Given the description of an element on the screen output the (x, y) to click on. 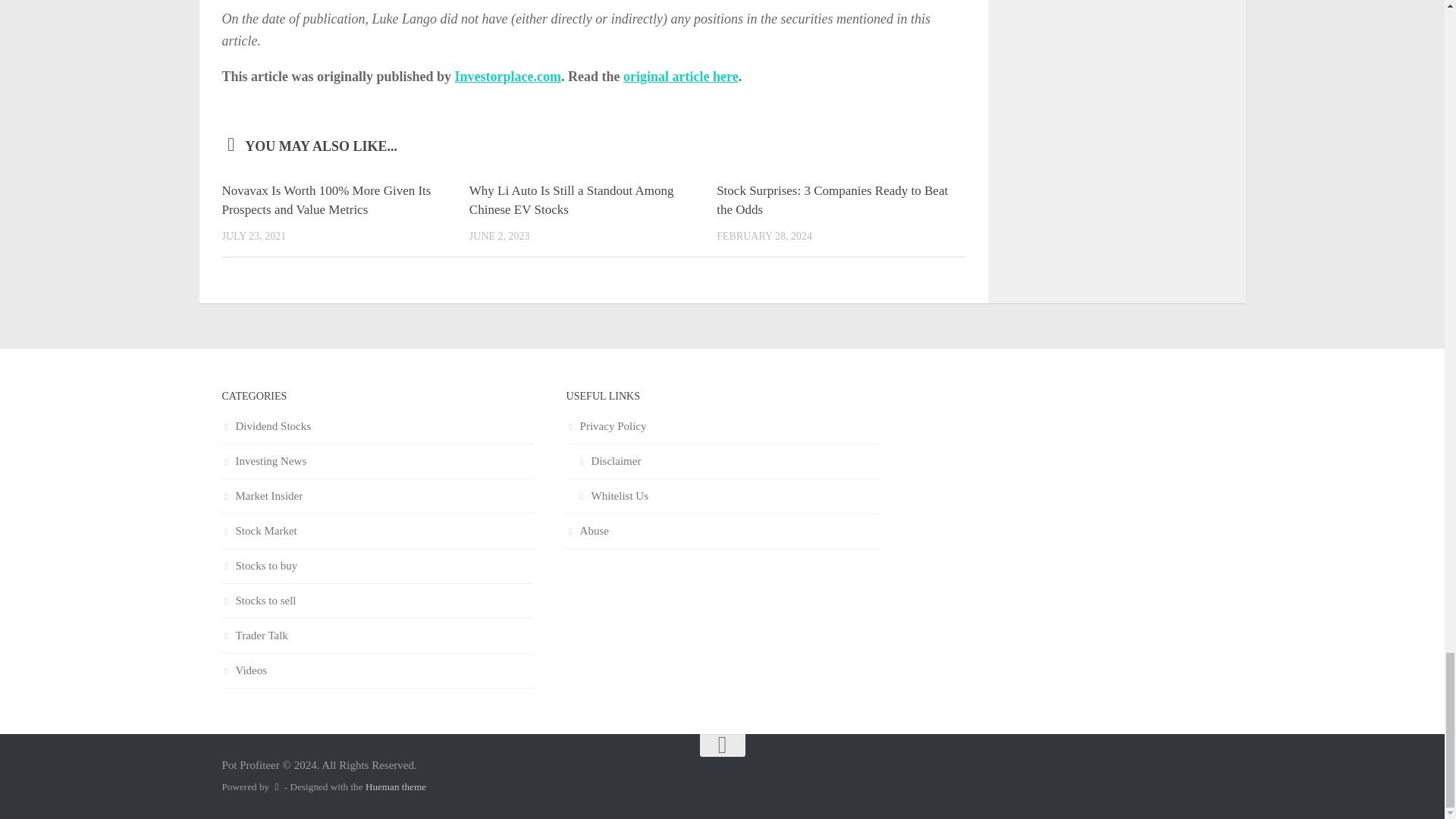
Hueman theme (395, 786)
Powered by WordPress (275, 786)
